Given the description of an element on the screen output the (x, y) to click on. 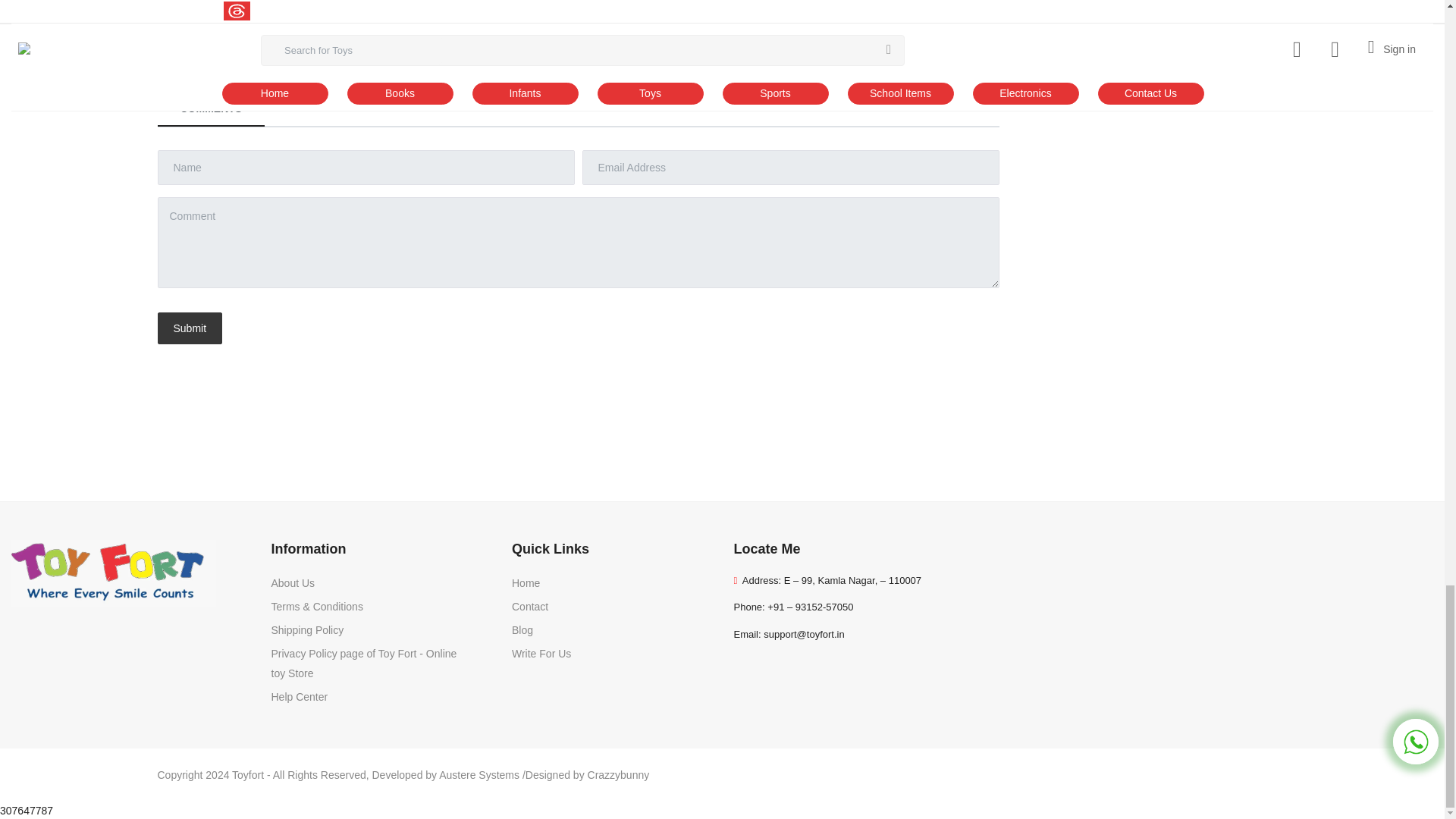
ToyfortMapLocation (1203, 615)
